Given the description of an element on the screen output the (x, y) to click on. 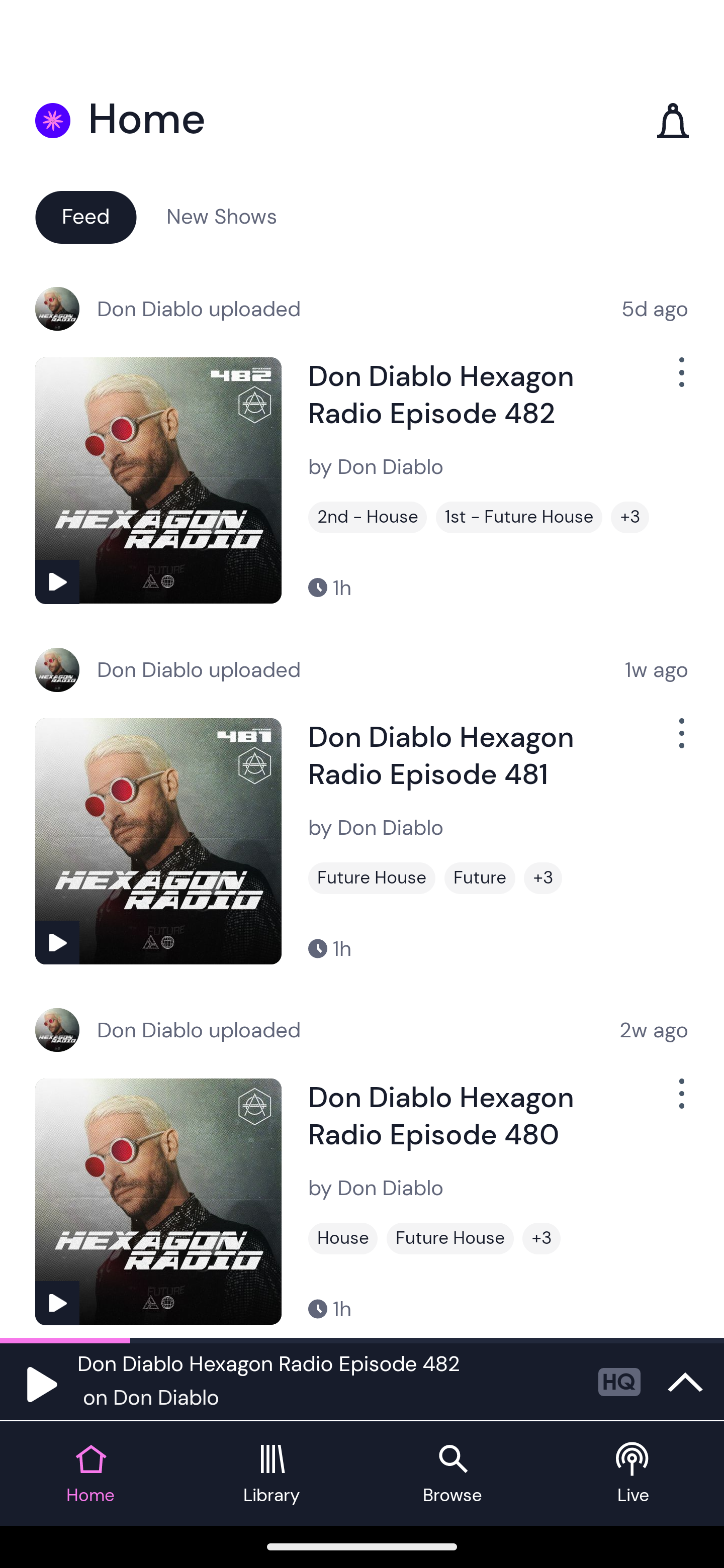
Feed (85, 216)
New Shows (221, 216)
Show Options Menu Button (679, 379)
2nd - House (367, 517)
1st - Future House (518, 517)
Show Options Menu Button (679, 740)
Future House (371, 877)
Future (479, 877)
Show Options Menu Button (679, 1101)
House (342, 1238)
Future House (450, 1238)
Home tab Home (90, 1473)
Library tab Library (271, 1473)
Browse tab Browse (452, 1473)
Live tab Live (633, 1473)
